Given the description of an element on the screen output the (x, y) to click on. 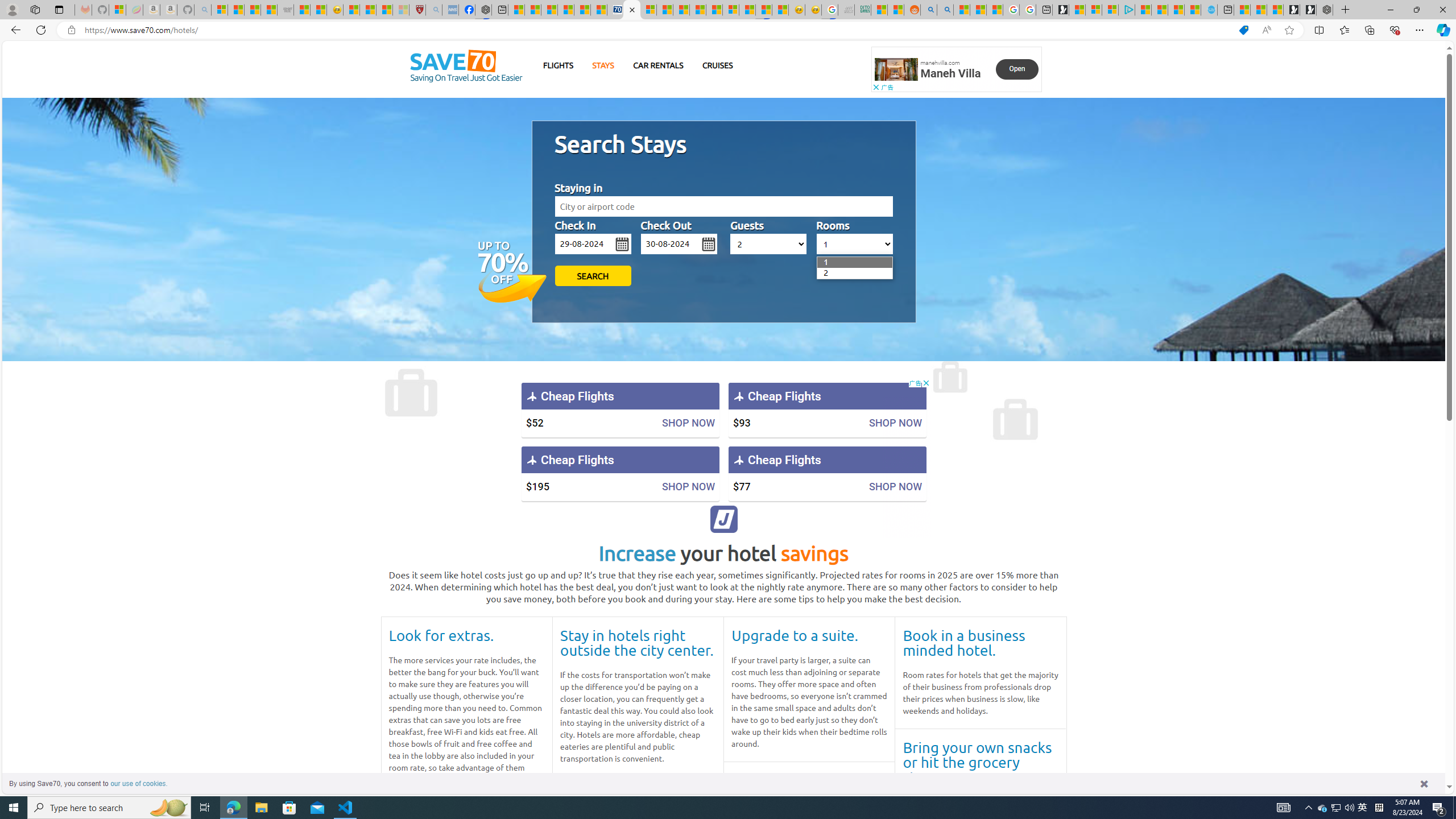
Class: ns-pn6gp-e-2 svg-anchor text-button-final (1016, 68)
Class: ns-pn6gp-e-16 svg-anchor (896, 69)
12 Popular Science Lies that Must be Corrected - Sleeping (400, 9)
STAYS (603, 65)
